Given the description of an element on the screen output the (x, y) to click on. 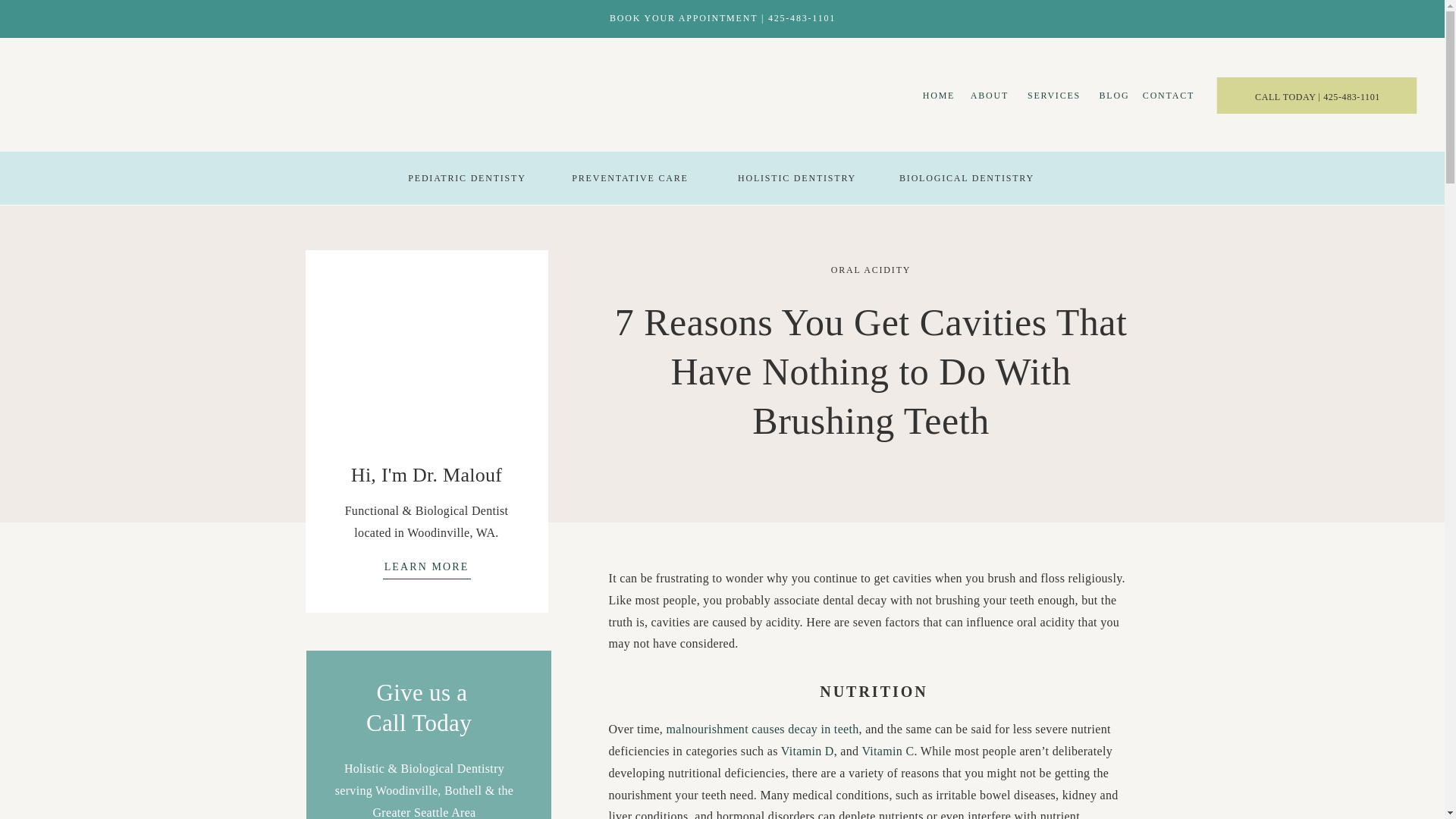
LEARN MORE (426, 568)
ORAL ACIDITY (871, 269)
BLOG (1114, 98)
malnourishment causes decay in teeth (762, 728)
Vitamin C (887, 750)
ABOUT (989, 98)
CONTACT (1168, 96)
SERVICES (1054, 96)
HOME (939, 98)
Vitamin D (807, 750)
